Given the description of an element on the screen output the (x, y) to click on. 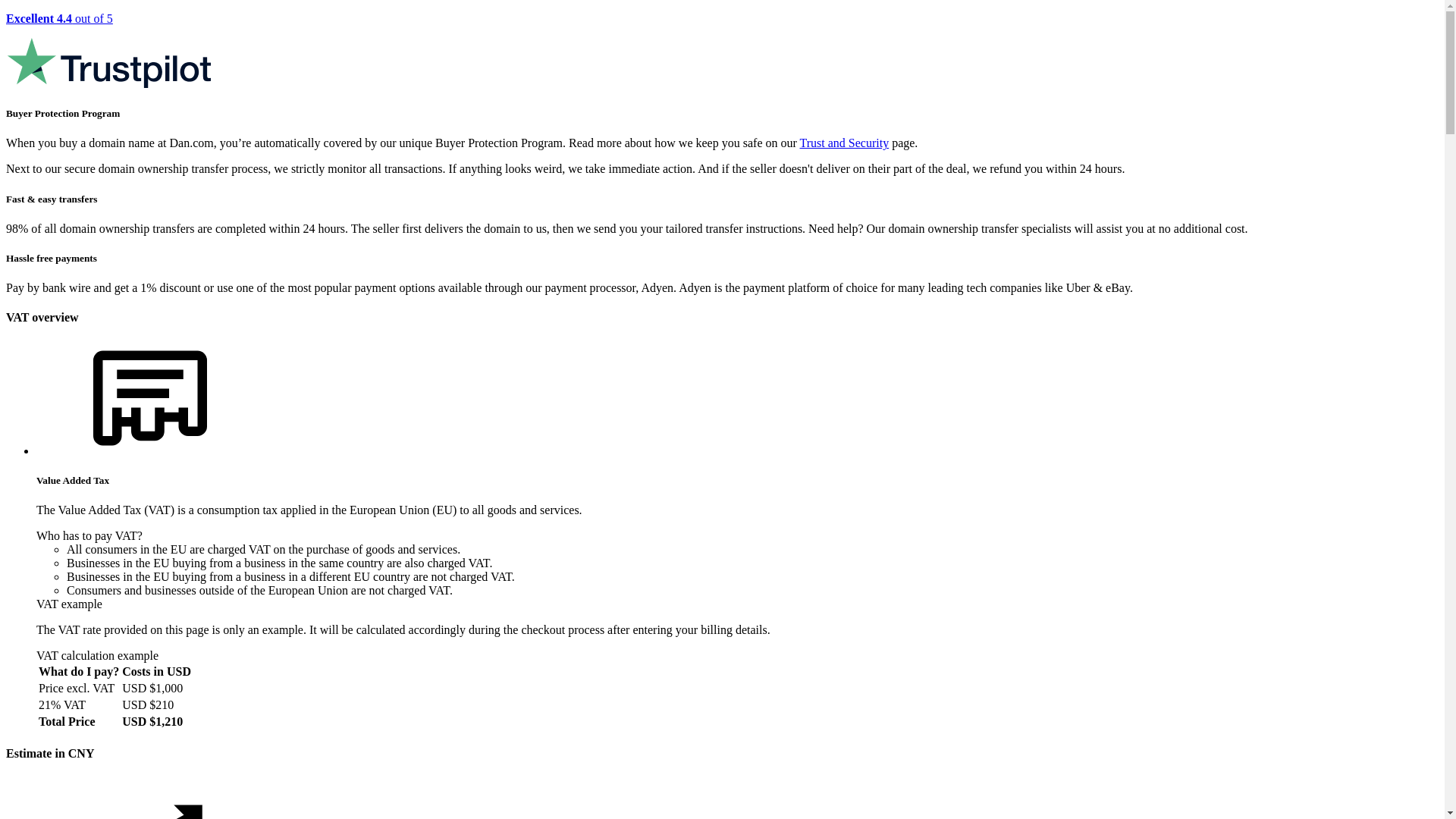
Trust and Security Element type: text (844, 142)
Excellent 4.4 out of 5 Element type: text (722, 51)
